Given the description of an element on the screen output the (x, y) to click on. 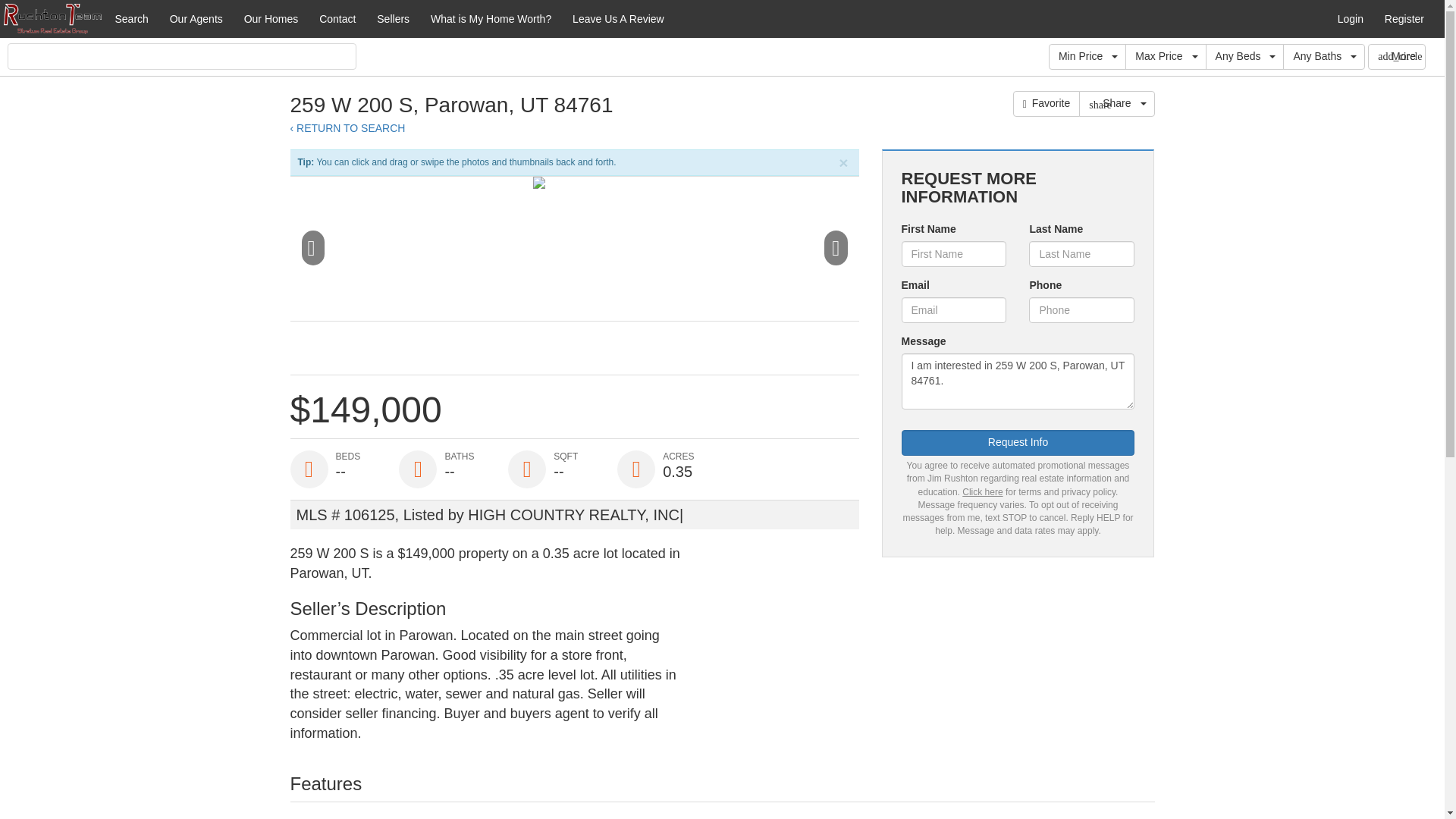
Login (1350, 18)
Contact (337, 18)
Min Price (1086, 56)
Our Agents (195, 18)
Our Homes (270, 18)
Leave Us A Review (617, 18)
Sellers (393, 18)
Search (130, 18)
What is My Home Worth? (491, 18)
Register (1403, 18)
